Given the description of an element on the screen output the (x, y) to click on. 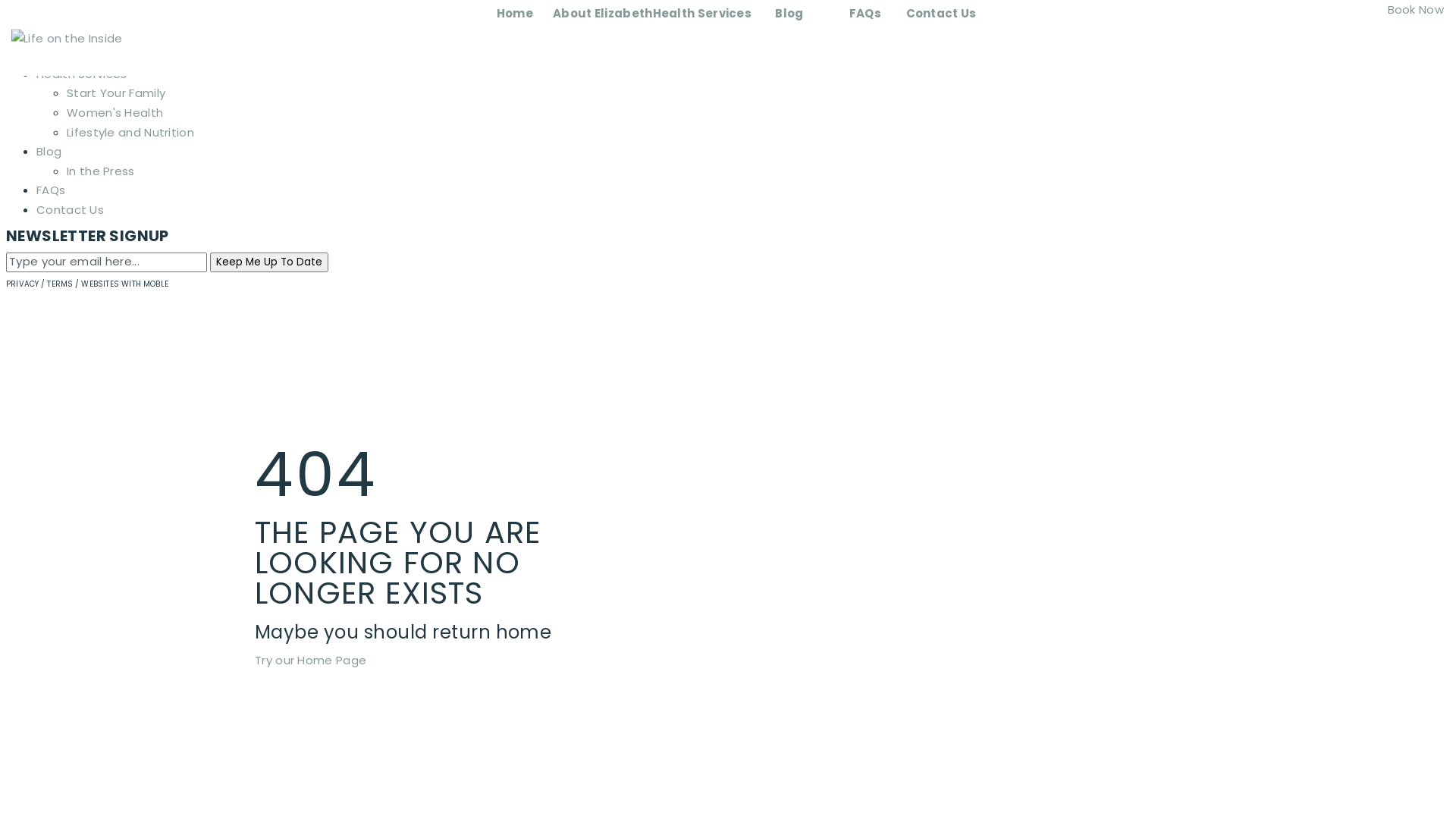
Home Element type: text (53, 35)
Book Now Element type: text (1413, 9)
Blog Element type: text (48, 151)
About Elizabeth Element type: text (602, 13)
Women's Health Element type: text (114, 112)
FAQs Element type: text (50, 189)
TERMS Element type: text (59, 283)
Health Services Element type: text (81, 73)
Contact Us Element type: text (69, 209)
Health Services Element type: text (701, 13)
Start Your Family Element type: text (115, 92)
FAQs Element type: text (865, 13)
Lifestyle and Nutrition Element type: text (130, 132)
Contact Us Element type: text (940, 13)
02 9387 2204 Element type: text (74, 15)
About Elizabeth Mucci Element type: text (100, 54)
Keep Me Up To Date Element type: text (269, 262)
WEBSITES WITH MOBLE Element type: text (124, 283)
Home Element type: text (514, 13)
PRIVACY Element type: text (22, 283)
In the Press Element type: text (100, 170)
Try our Home Page Element type: text (310, 660)
Blog Element type: text (789, 13)
